Given the description of an element on the screen output the (x, y) to click on. 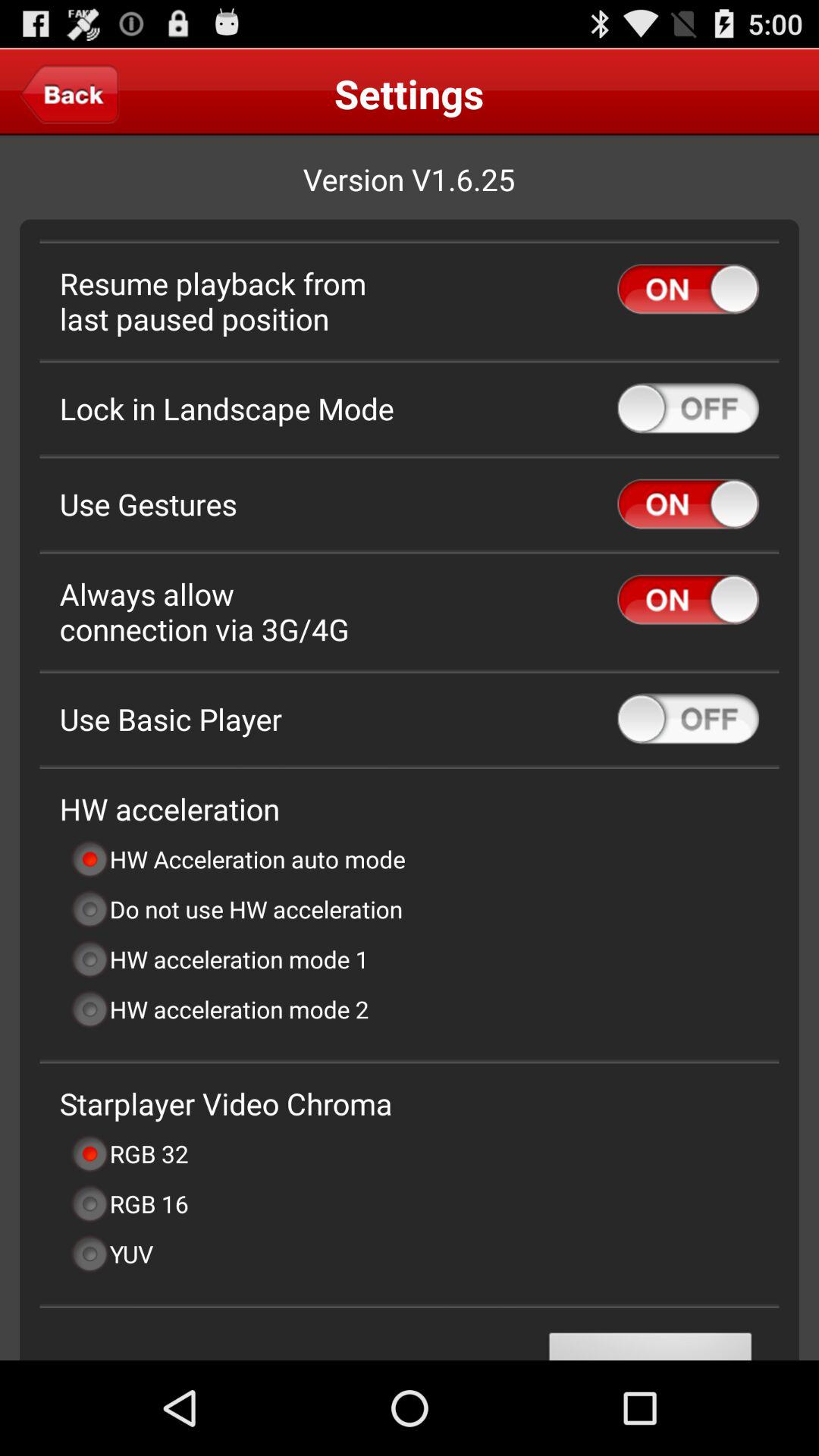
turn off item above the yuv radio button (128, 1203)
